Given the description of an element on the screen output the (x, y) to click on. 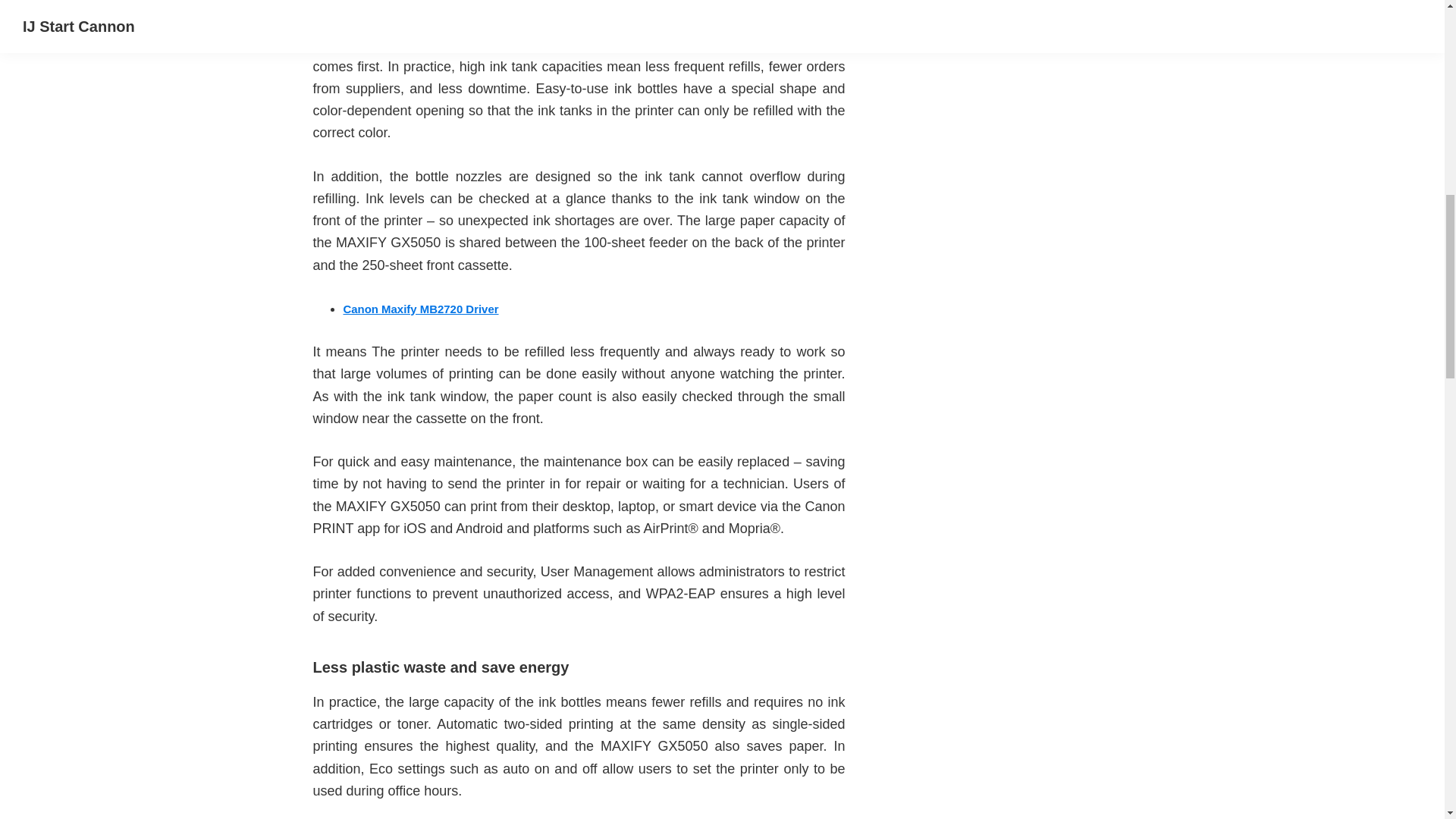
Canon Maxify MB2720 Driver (419, 308)
